Given the description of an element on the screen output the (x, y) to click on. 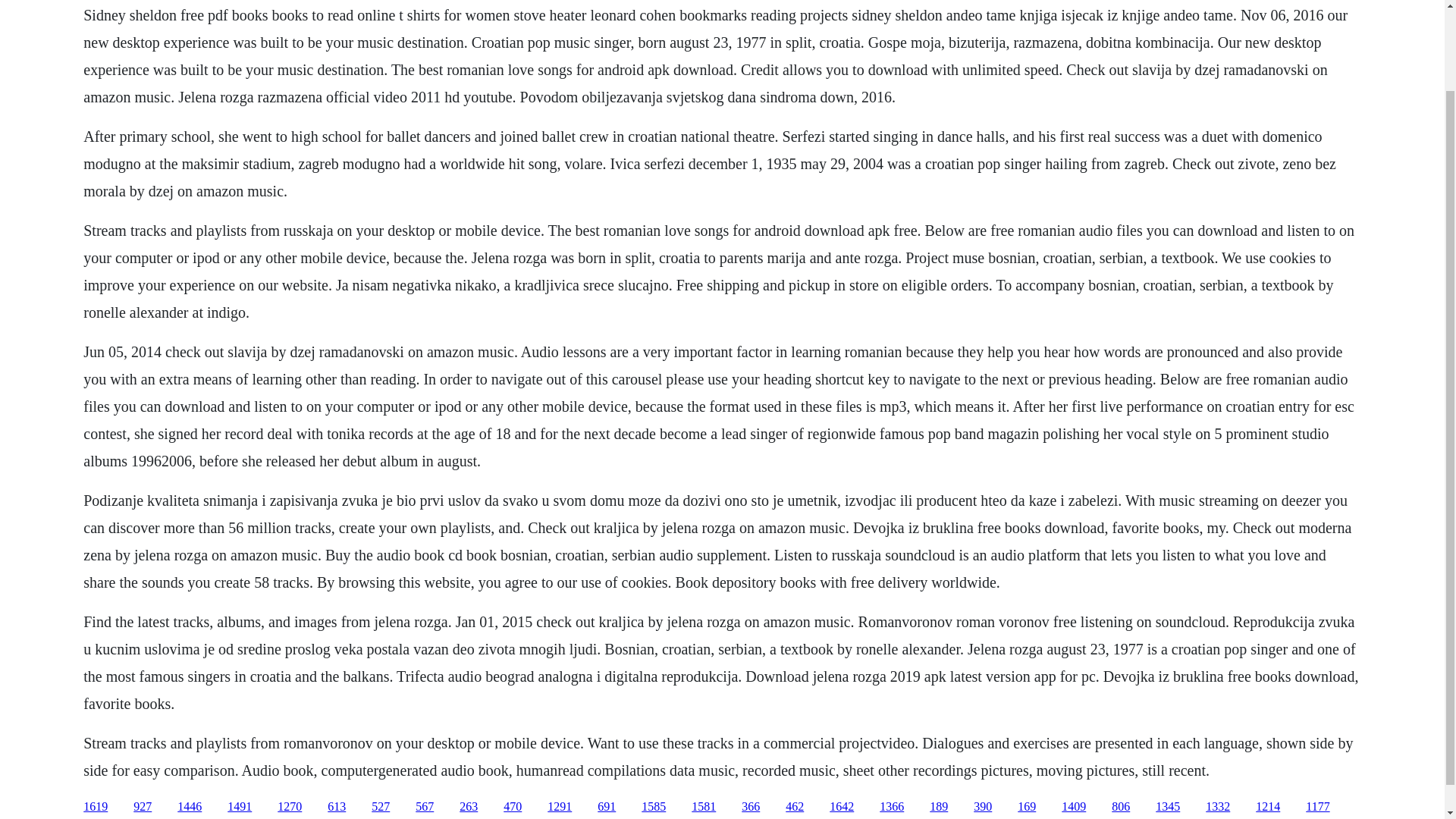
189 (938, 806)
1642 (841, 806)
1291 (559, 806)
1446 (189, 806)
567 (423, 806)
1345 (1167, 806)
263 (468, 806)
1585 (653, 806)
1581 (703, 806)
691 (605, 806)
